Given the description of an element on the screen output the (x, y) to click on. 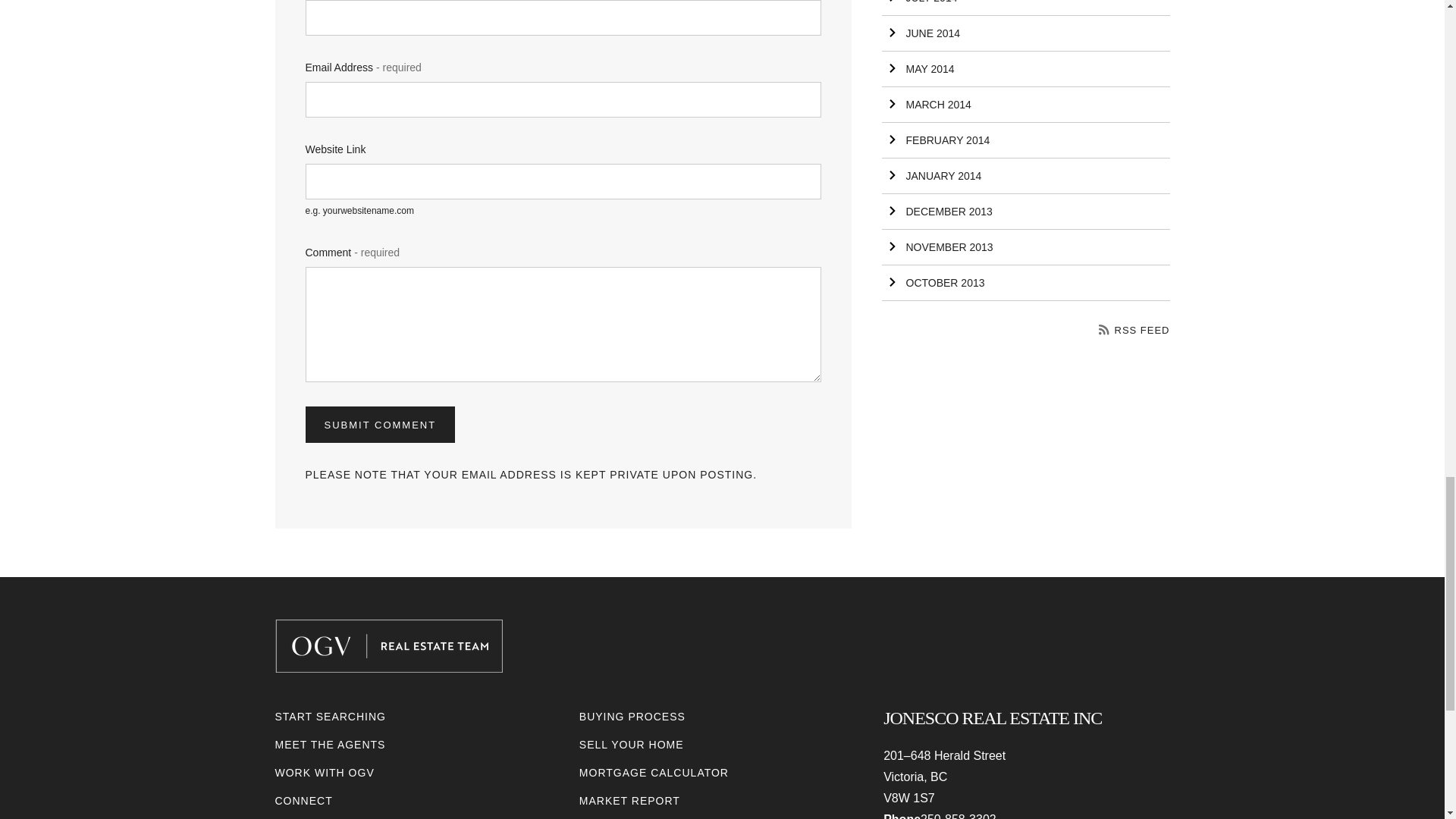
RSS FEED (1134, 329)
SUBMIT COMMENT (379, 424)
